Given the description of an element on the screen output the (x, y) to click on. 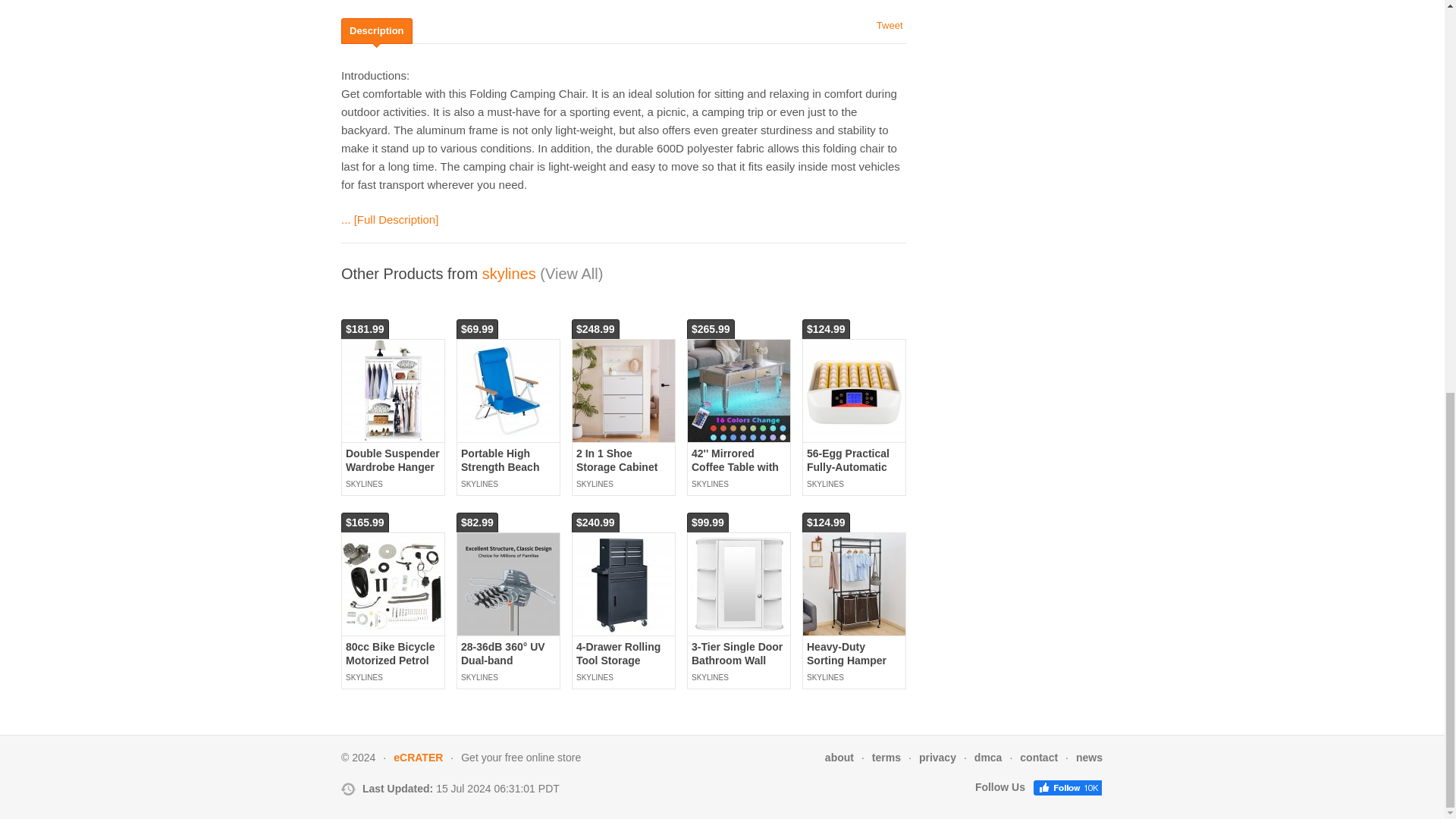
Heavy-Duty Sorting Hamper Commercial Grade Clothes Rack (853, 667)
80cc Bike Bicycle Motorized Petrol Gas Motor Engine Kit Set (391, 667)
4-Drawer Rolling Tool Storage Cabinet with Shelf Black (623, 584)
56-Egg Practical Fully-Automatic Incubator with Egg Candler (854, 390)
4-Drawer Rolling Tool Storage Cabinet with Shelf Black (622, 667)
80cc Bike Bicycle Motorized Petrol Gas Motor Engine Kit Set (393, 584)
2 In 1 Shoe Storage Cabinet with 3 Flip Drawers White (623, 390)
56-Egg Practical Fully-Automatic Incubator with Egg Candler (847, 474)
Heavy-Duty Sorting Hamper Commercial Grade Clothes Rack (854, 584)
2 In 1 Shoe Storage Cabinet with 3 Flip Drawers White (617, 474)
